Given the description of an element on the screen output the (x, y) to click on. 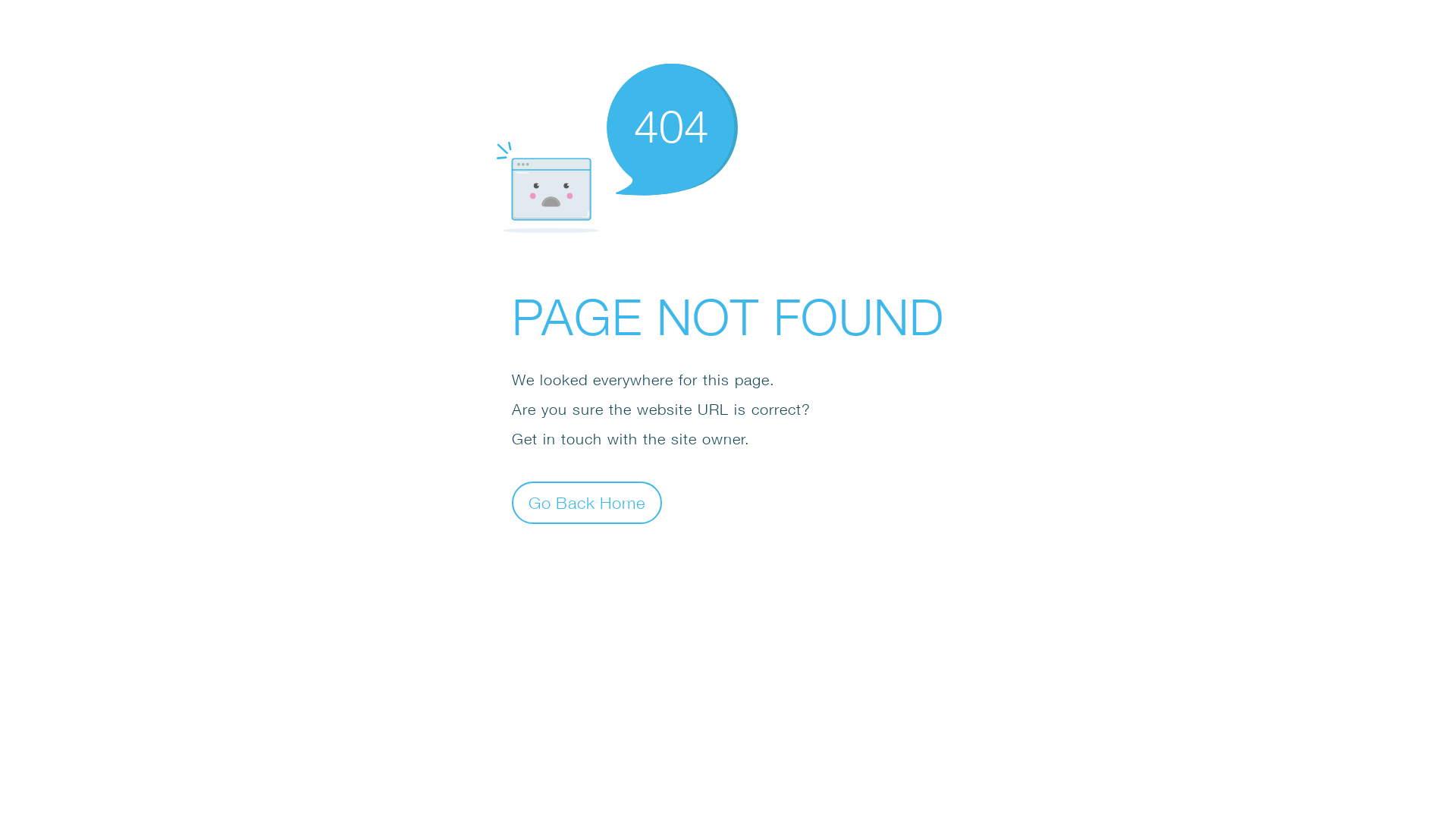
Go Back Home Element type: text (586, 502)
